Given the description of an element on the screen output the (x, y) to click on. 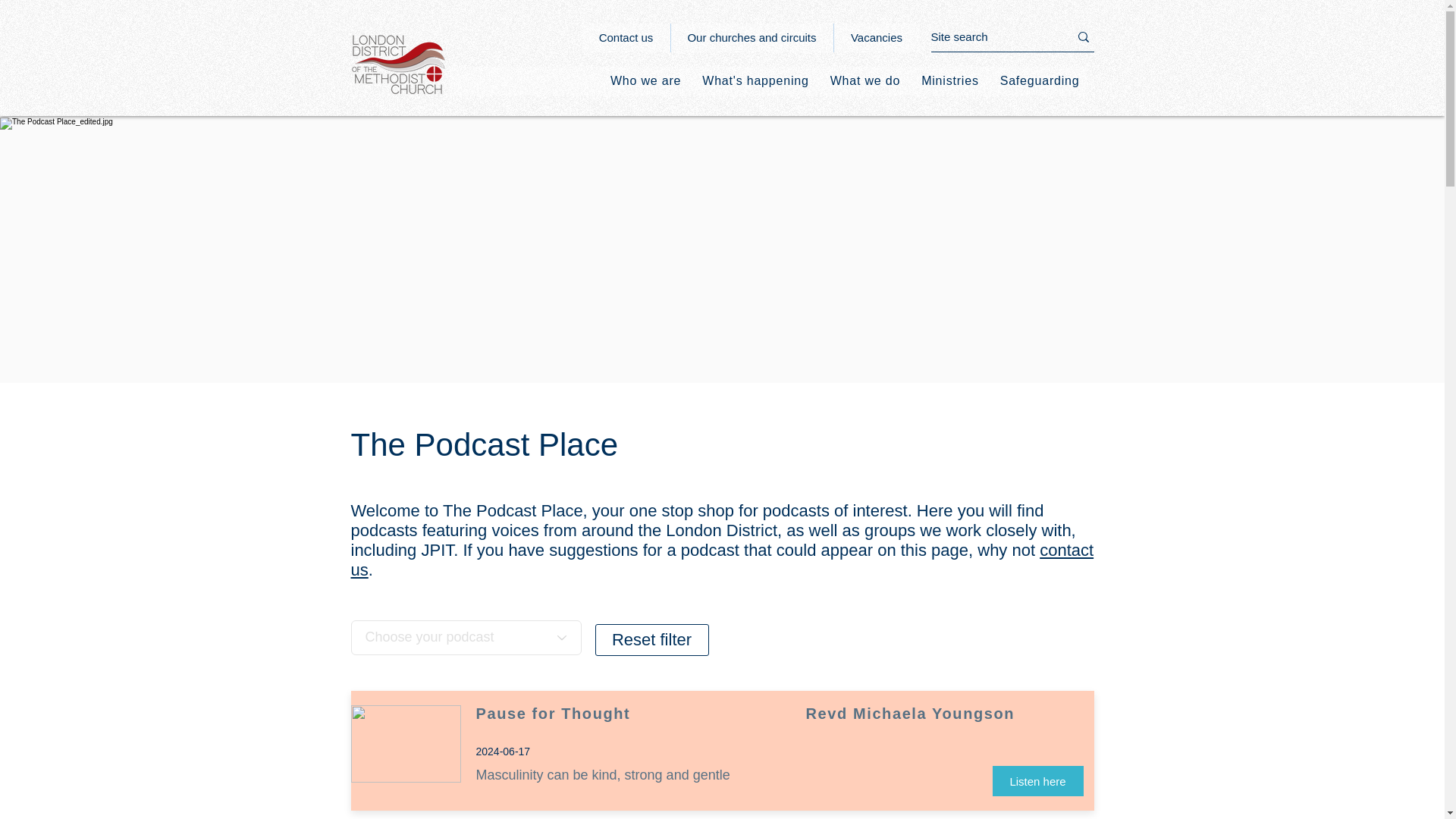
What we do (864, 80)
Vacancies (875, 37)
Micky.pft.jpg (405, 743)
Who we are (645, 80)
Contact us (625, 37)
Our churches and circuits (750, 37)
